Given the description of an element on the screen output the (x, y) to click on. 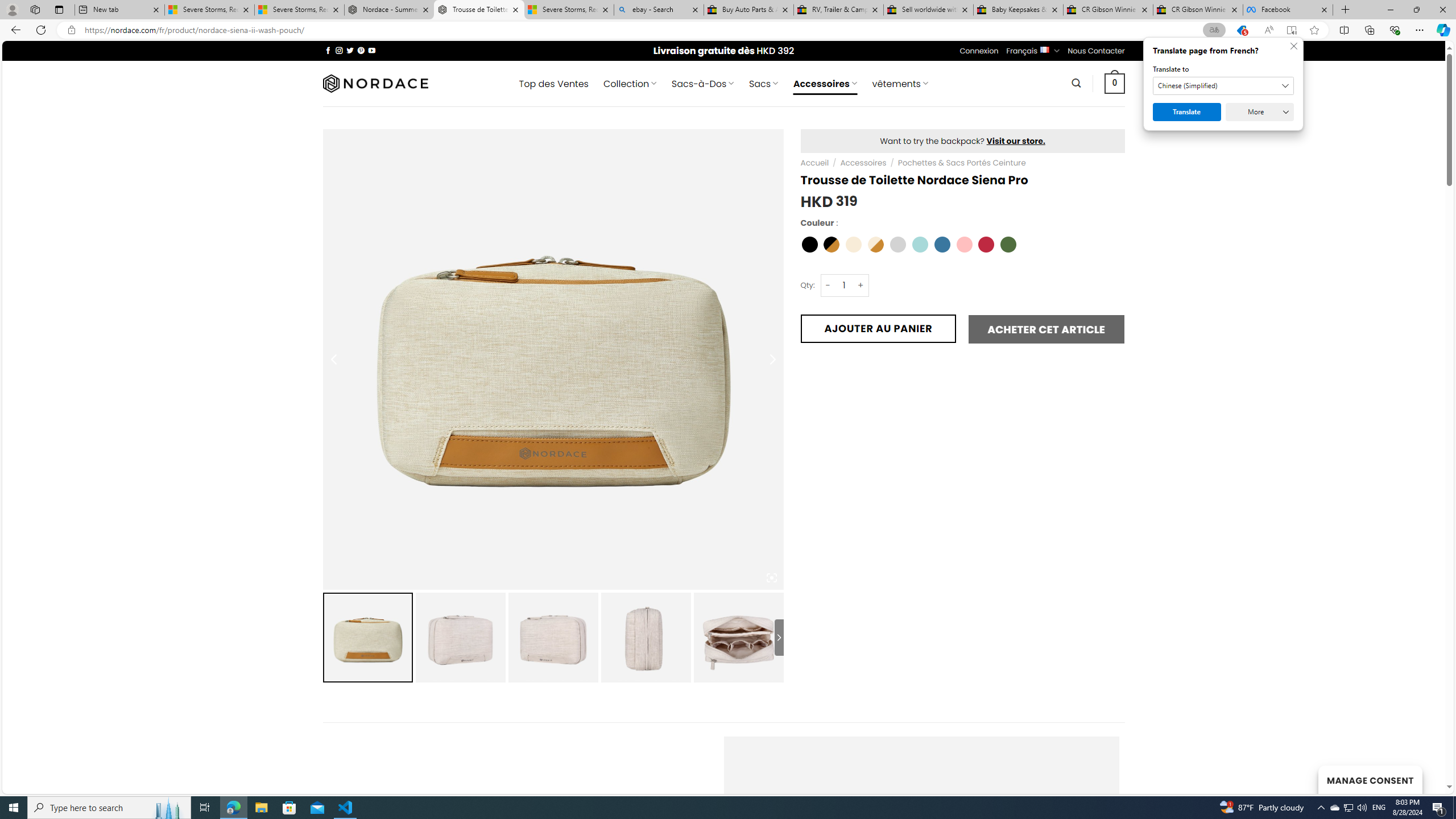
Translate (1187, 112)
  0   (1115, 83)
Nous suivre sur Instagram (338, 49)
Accessoires (863, 162)
Nous suivre sur Youtube (371, 49)
Facebook (1287, 9)
